Given the description of an element on the screen output the (x, y) to click on. 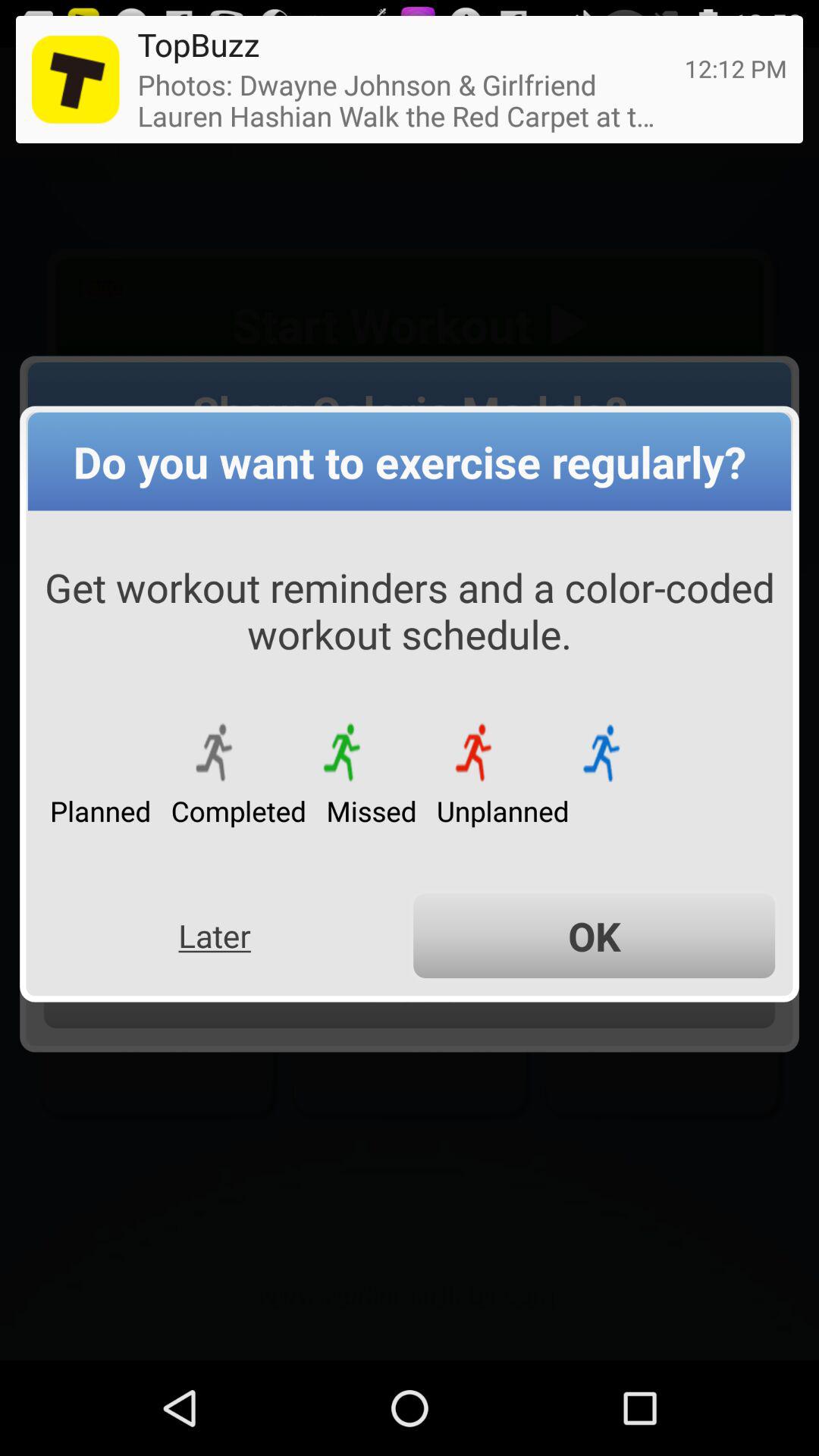
open ok icon (594, 935)
